Given the description of an element on the screen output the (x, y) to click on. 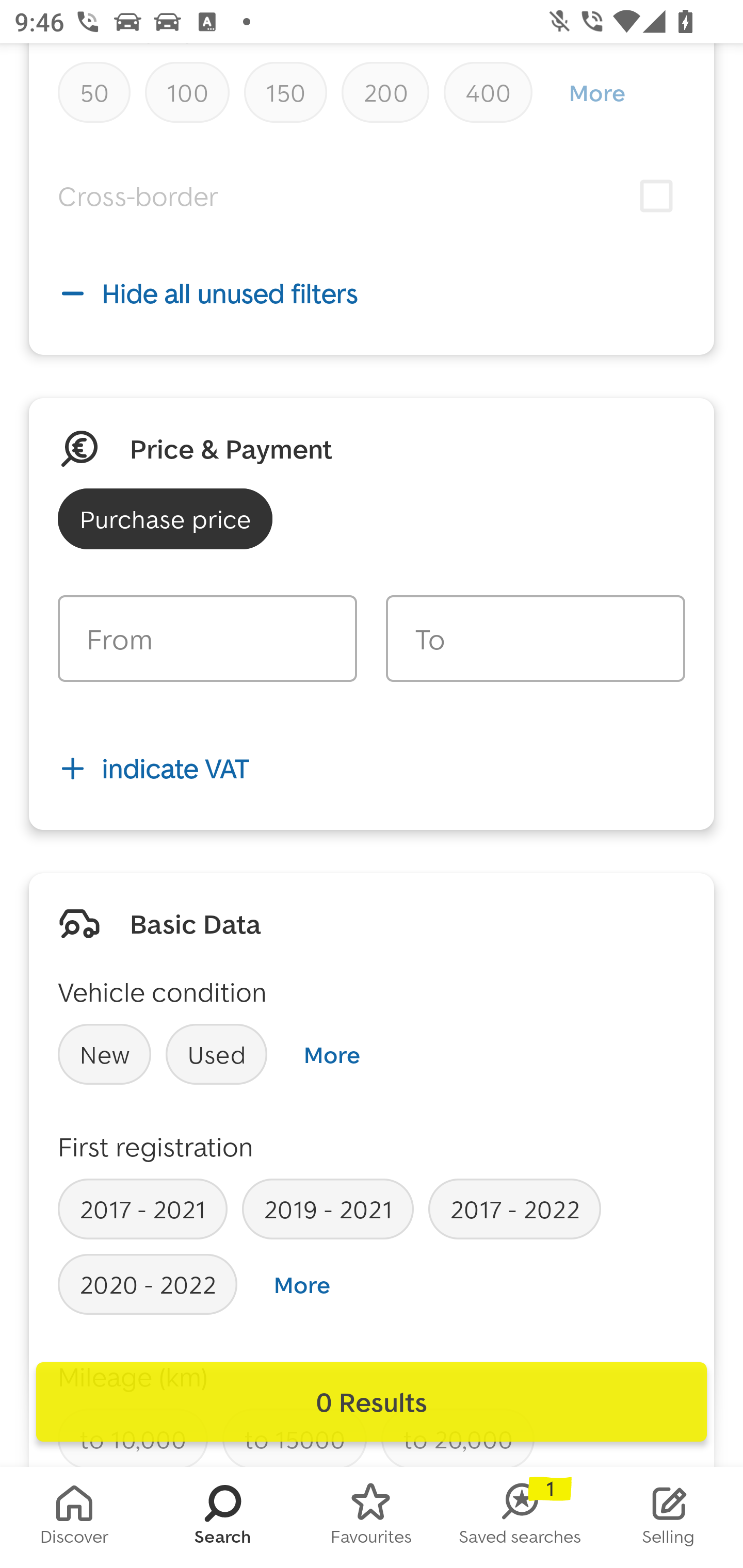
50 (93, 91)
100 (186, 91)
150 (284, 91)
200 (385, 91)
400 (487, 91)
More (596, 92)
Hide all unused filters (371, 293)
Price & Payment (231, 448)
Purchase price (164, 518)
From (207, 638)
To (535, 638)
indicate VAT (371, 768)
Basic Data (195, 923)
Vehicle condition (161, 991)
New (103, 1054)
Used (216, 1054)
More (331, 1054)
First registration (155, 1145)
2017 - 2021 (142, 1208)
2019 - 2021 (327, 1208)
2017 - 2022 (514, 1208)
2020 - 2022 (147, 1283)
More (301, 1284)
0 Results (371, 1401)
HOMESCREEN Discover (74, 1517)
SEARCH Search (222, 1517)
FAVORITES Favourites (371, 1517)
SAVED_SEARCHES Saved searches 1 (519, 1517)
STOCK_LIST Selling (668, 1517)
